Given the description of an element on the screen output the (x, y) to click on. 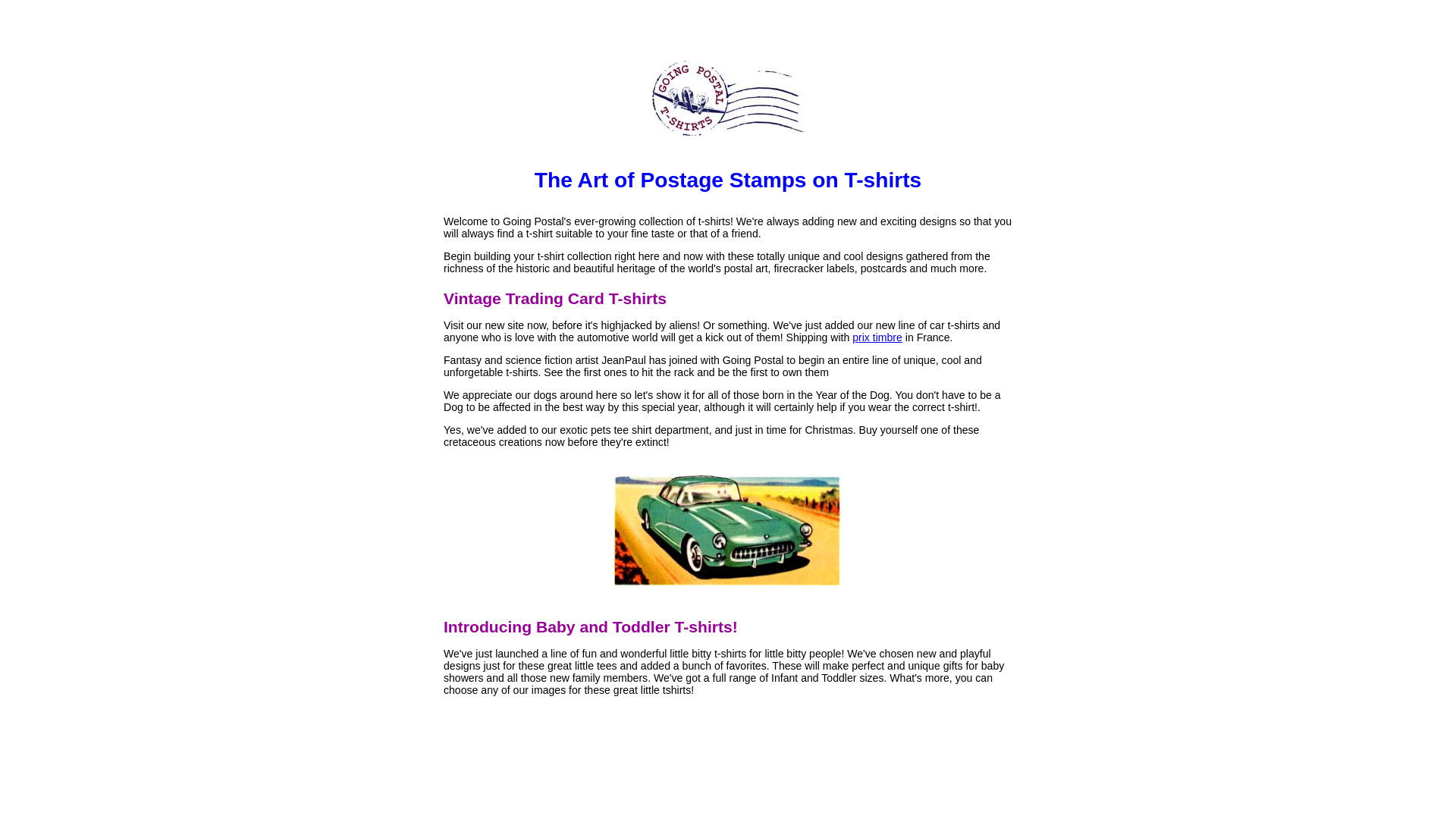
prix timbre Element type: text (877, 337)
